Given the description of an element on the screen output the (x, y) to click on. 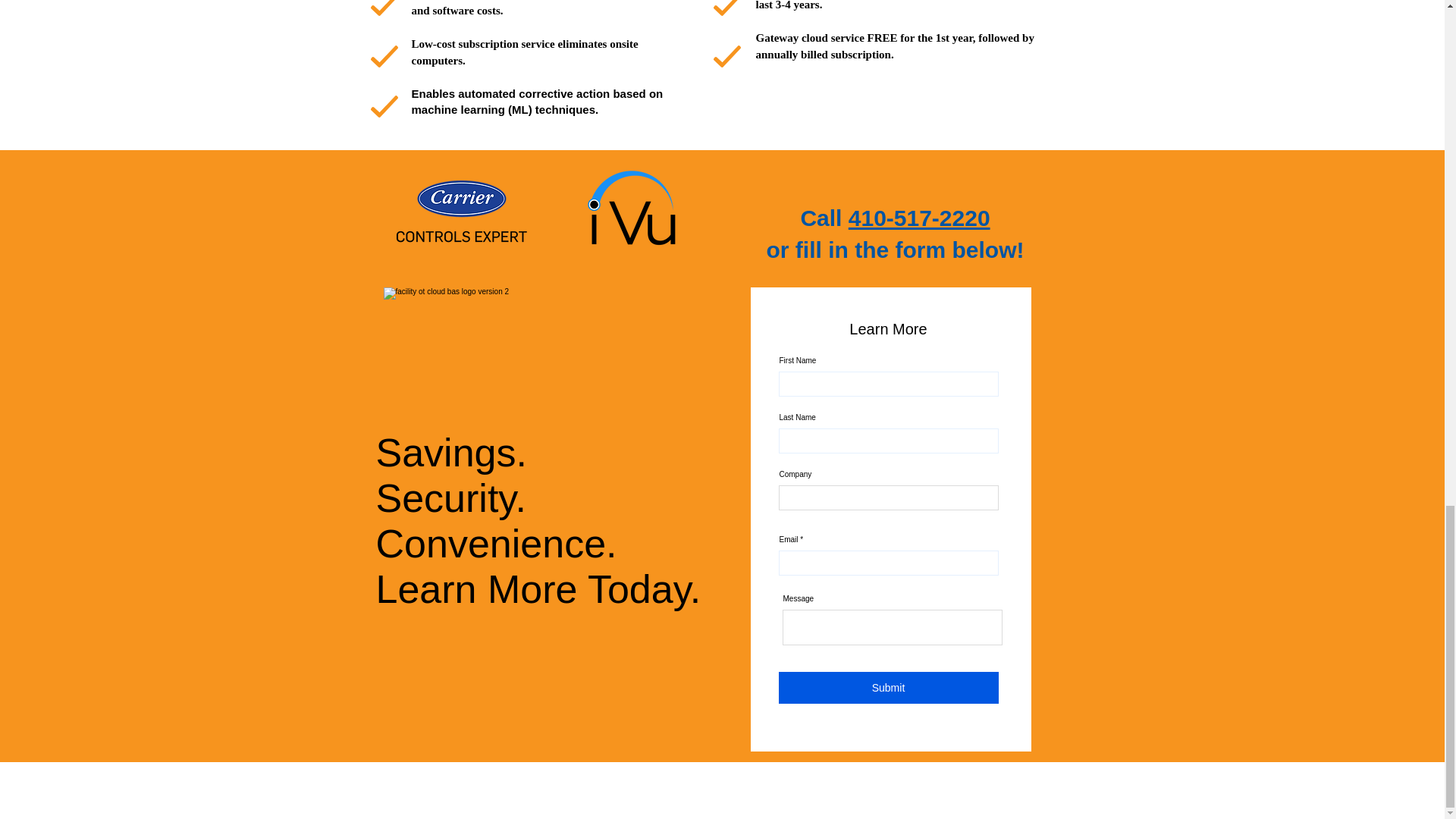
facility ot logo padding.png (549, 342)
410-517-2220 (919, 217)
Submit (885, 674)
Submit (887, 687)
